Given the description of an element on the screen output the (x, y) to click on. 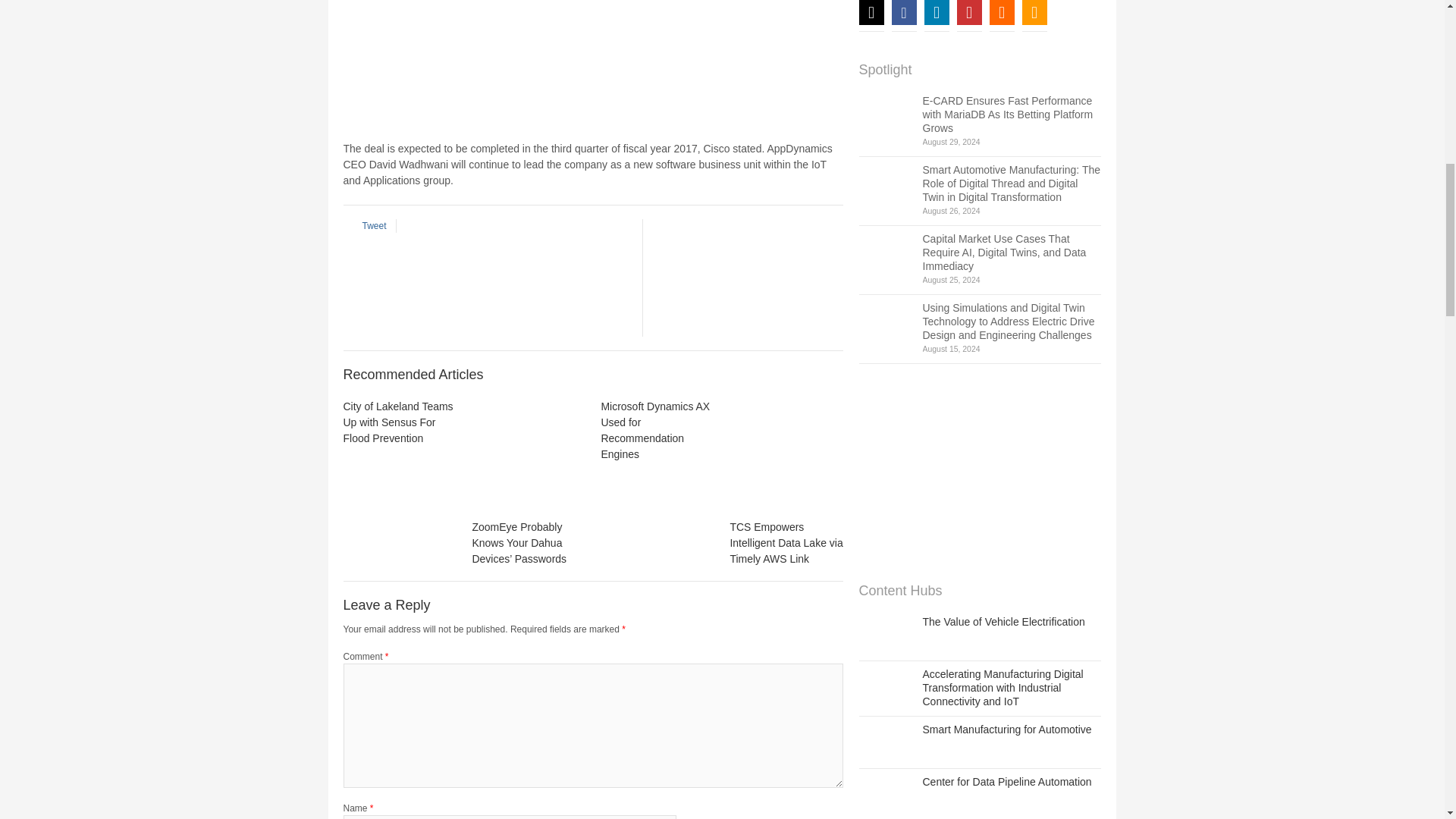
Microsoft Dynamics AX Used for Recommendation Engines (654, 430)
City of Lakeland Teams Up with Sensus For Flood Prevention (397, 422)
TCS Empowers Intelligent Data Lake via Timely AWS Link (786, 455)
